Given the description of an element on the screen output the (x, y) to click on. 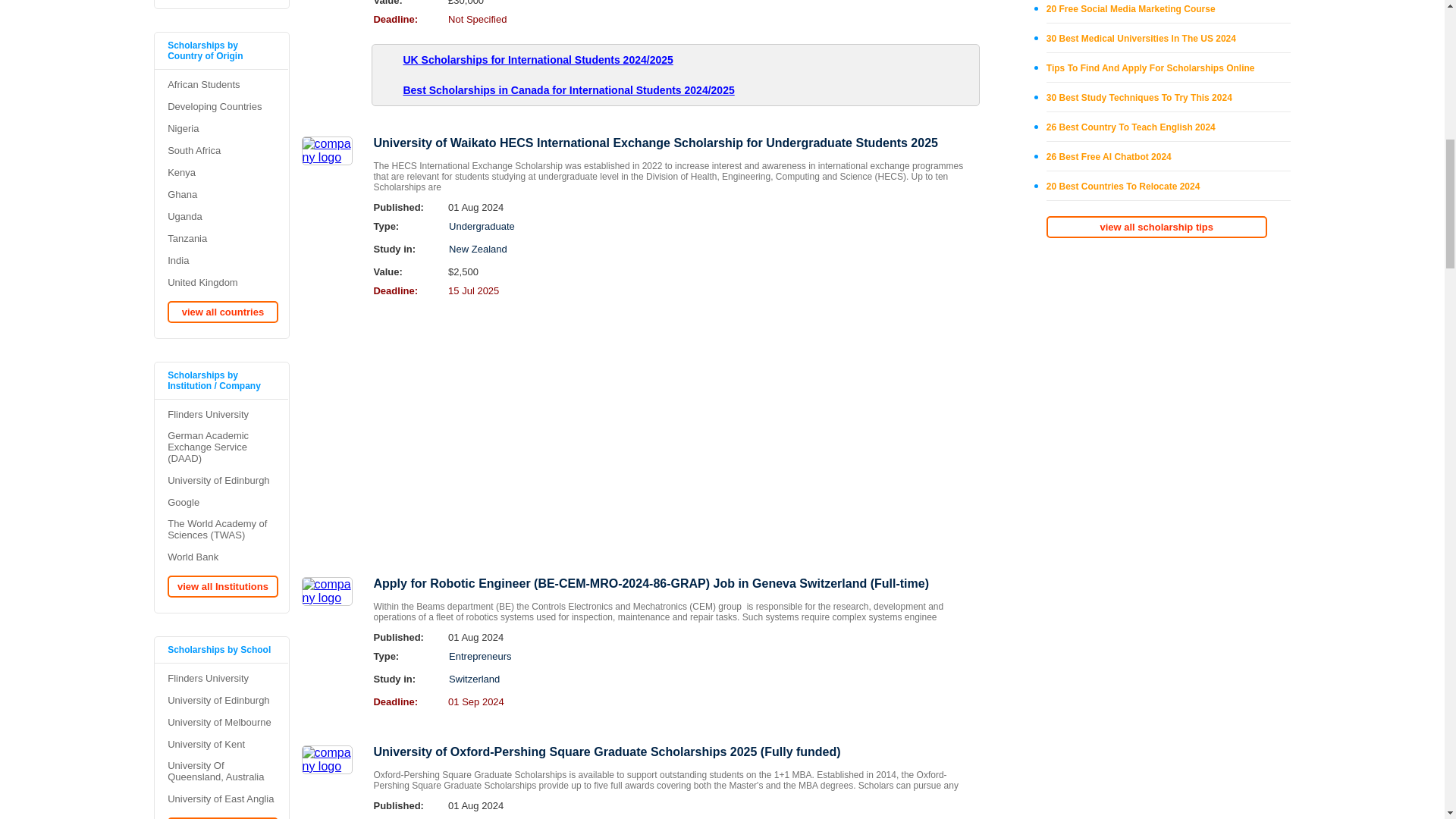
view all countries (222, 818)
view all countries (222, 311)
view all countries (1156, 227)
view all countries (222, 586)
